Given the description of an element on the screen output the (x, y) to click on. 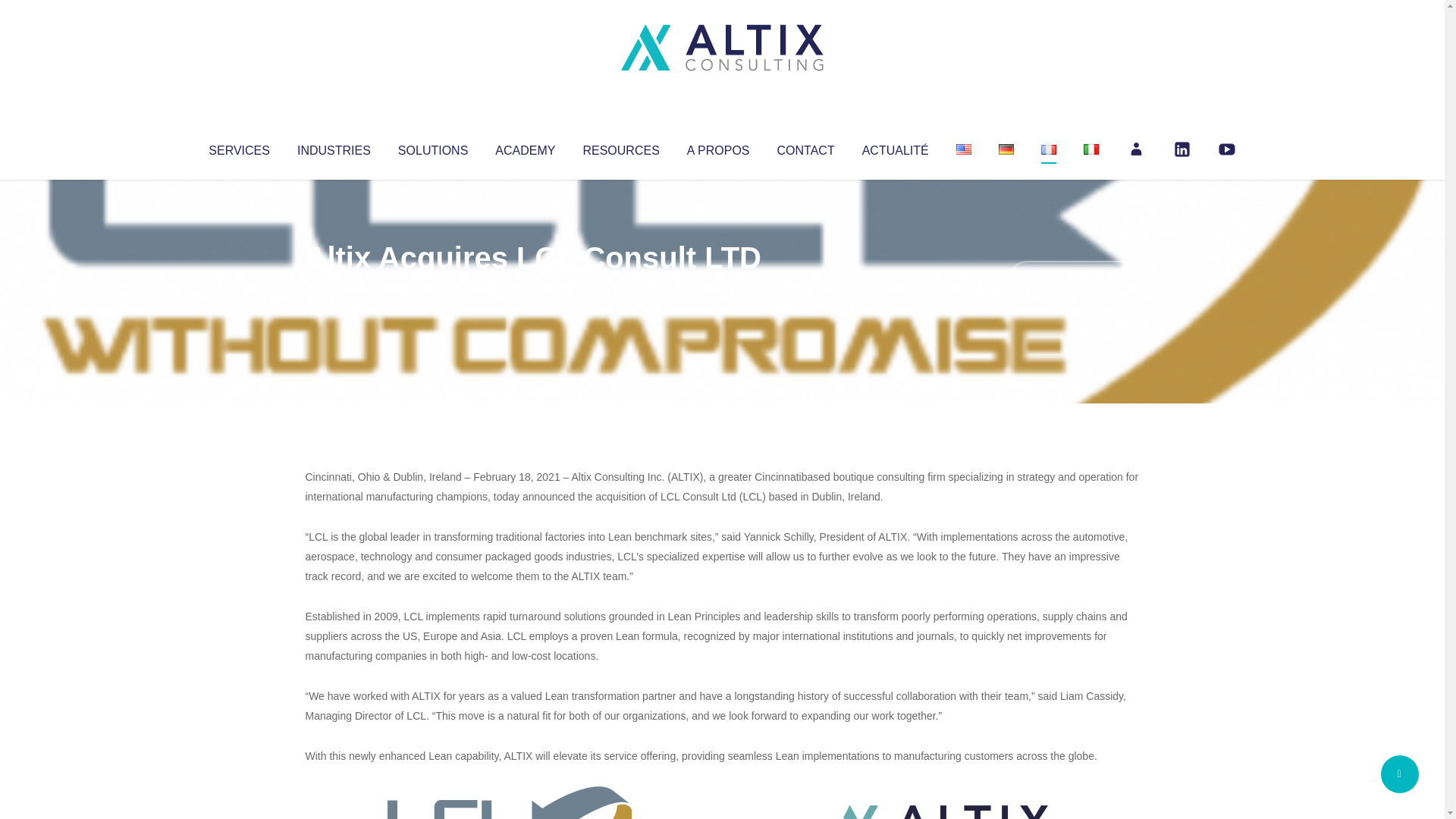
No Comments (1073, 278)
Uncategorized (530, 287)
SERVICES (238, 146)
ACADEMY (524, 146)
SOLUTIONS (432, 146)
RESOURCES (620, 146)
A PROPOS (718, 146)
Altix (333, 287)
INDUSTRIES (334, 146)
Articles par Altix (333, 287)
